Given the description of an element on the screen output the (x, y) to click on. 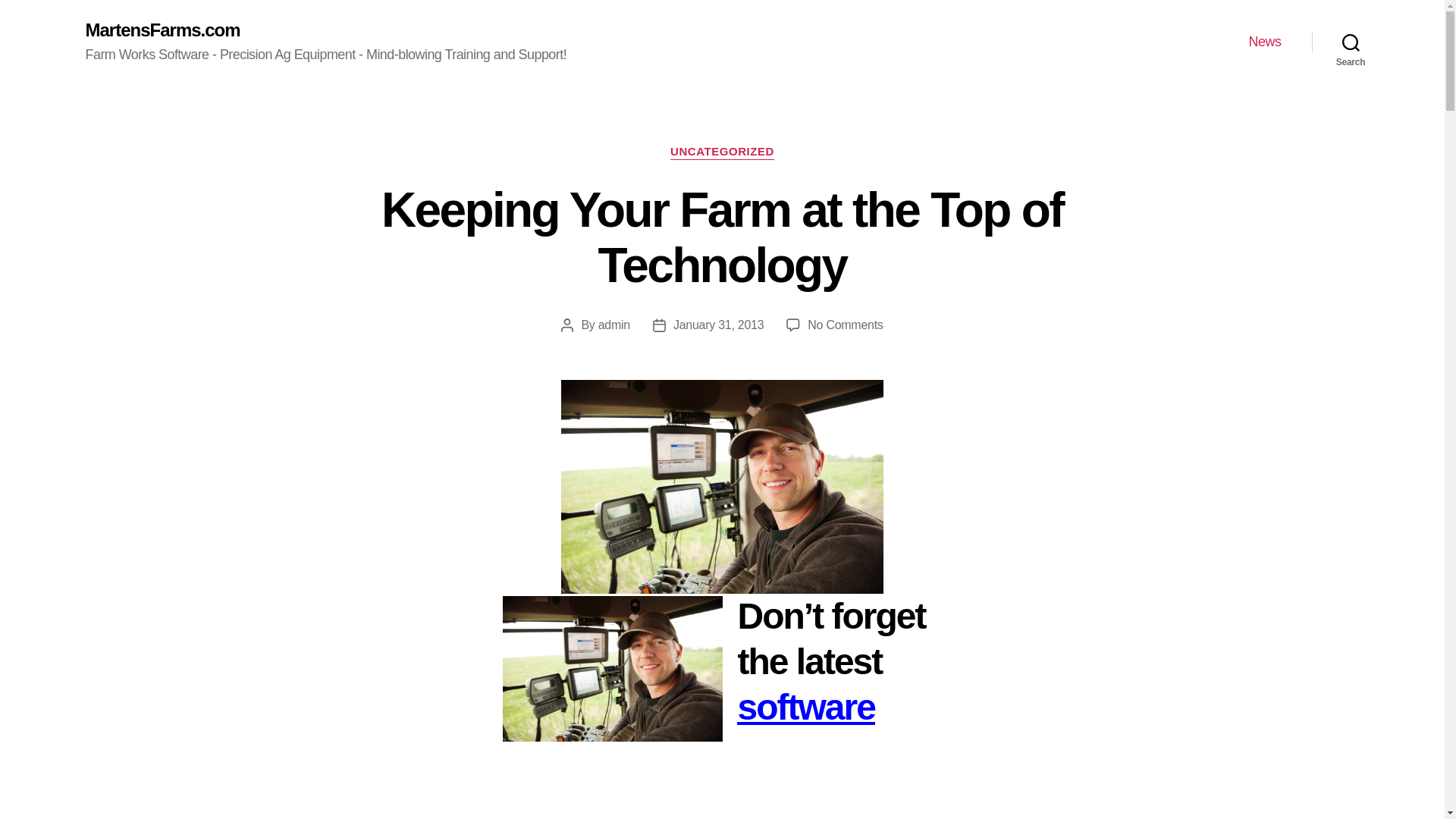
No Comments
on Keeping Your Farm at the Top of Technology Element type: text (844, 324)
Keeping Your Farm at the Top of Technology Element type: text (722, 237)
UNCATEGORIZED Element type: text (722, 152)
MartensFarms.com Element type: text (161, 30)
January 31, 2013 Element type: text (718, 324)
News Element type: text (1264, 42)
admin Element type: text (614, 324)
Search Element type: text (1350, 42)
software Element type: text (805, 707)
